Given the description of an element on the screen output the (x, y) to click on. 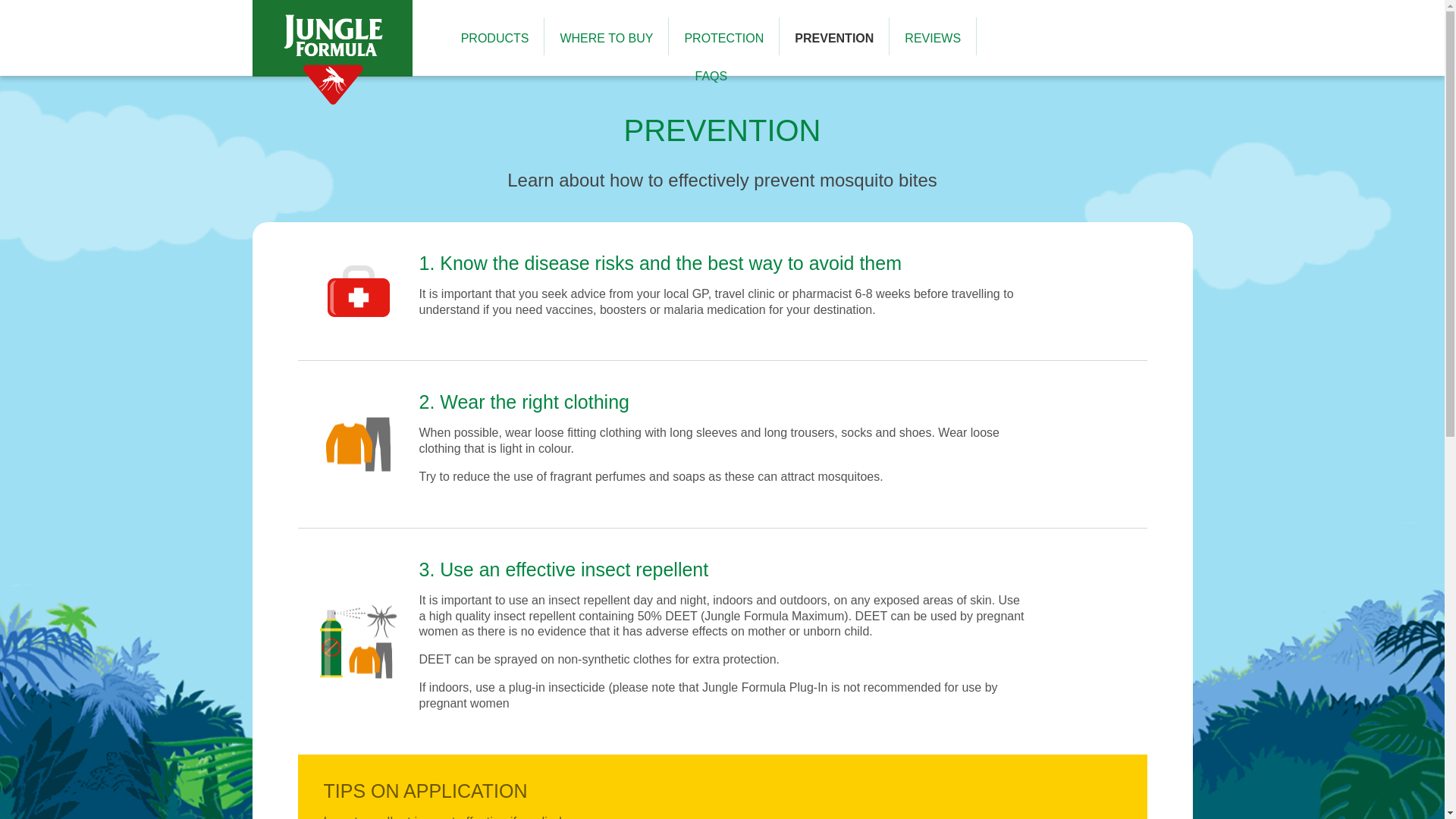
WHERE TO BUY (605, 38)
REVIEWS (932, 38)
PREVENTION (833, 38)
PROTECTION (723, 38)
FAQS (711, 75)
Jungle Formula (331, 101)
PRODUCTS (495, 38)
